Given the description of an element on the screen output the (x, y) to click on. 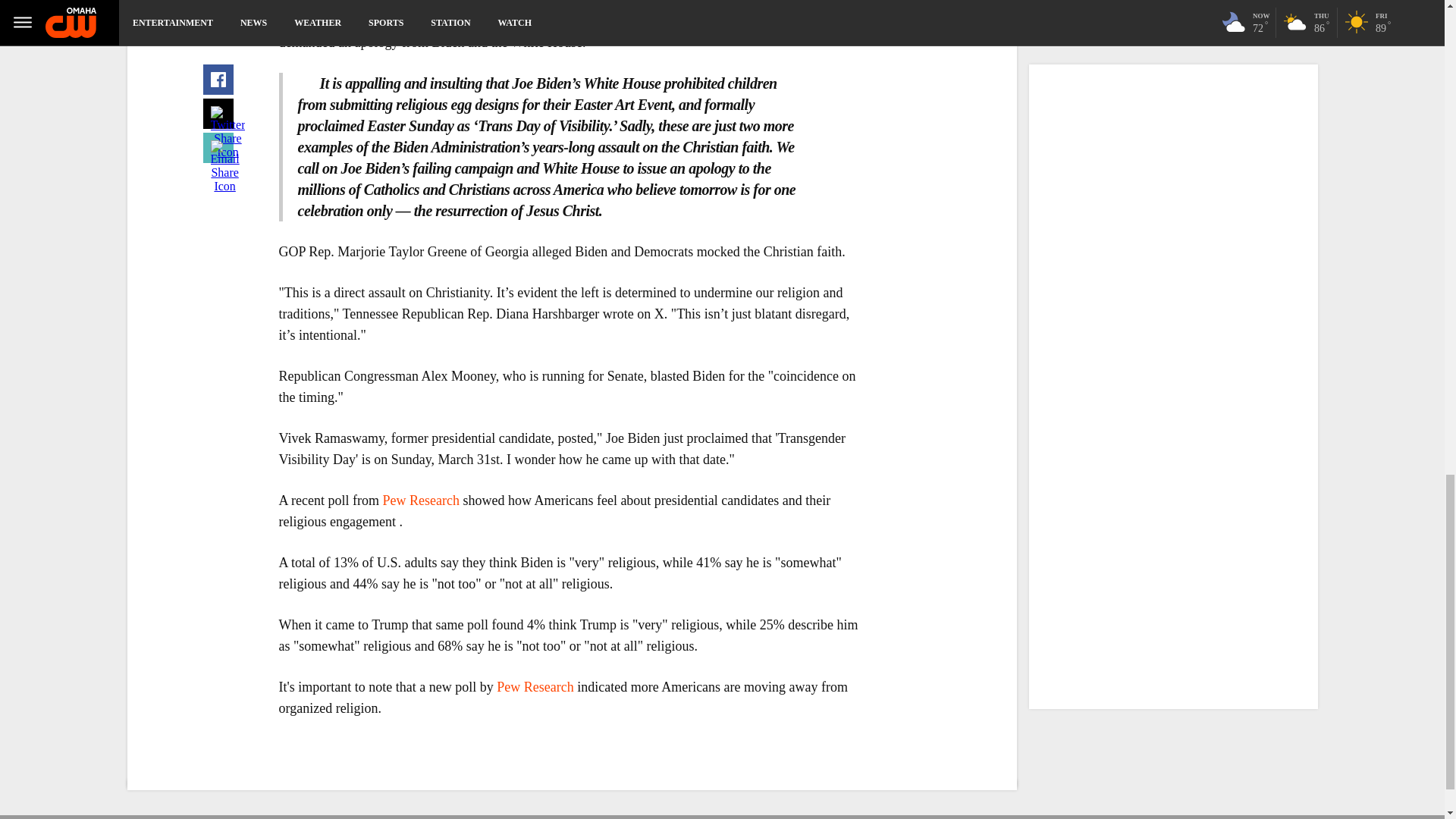
Pew Research (534, 686)
Trump's campaign (427, 20)
Pew Research (419, 500)
